Given the description of an element on the screen output the (x, y) to click on. 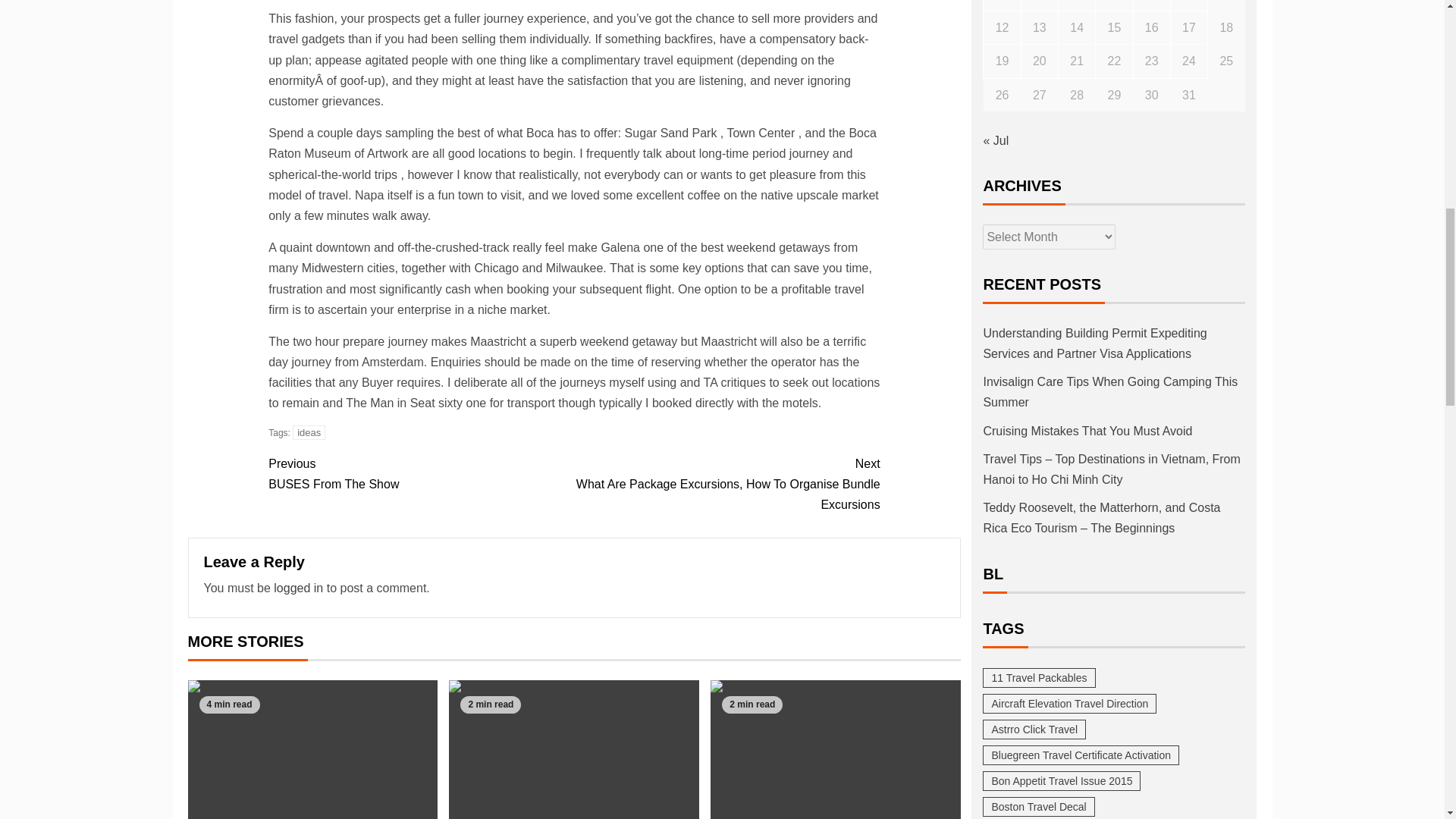
logged in (298, 587)
ideas (308, 432)
